Given the description of an element on the screen output the (x, y) to click on. 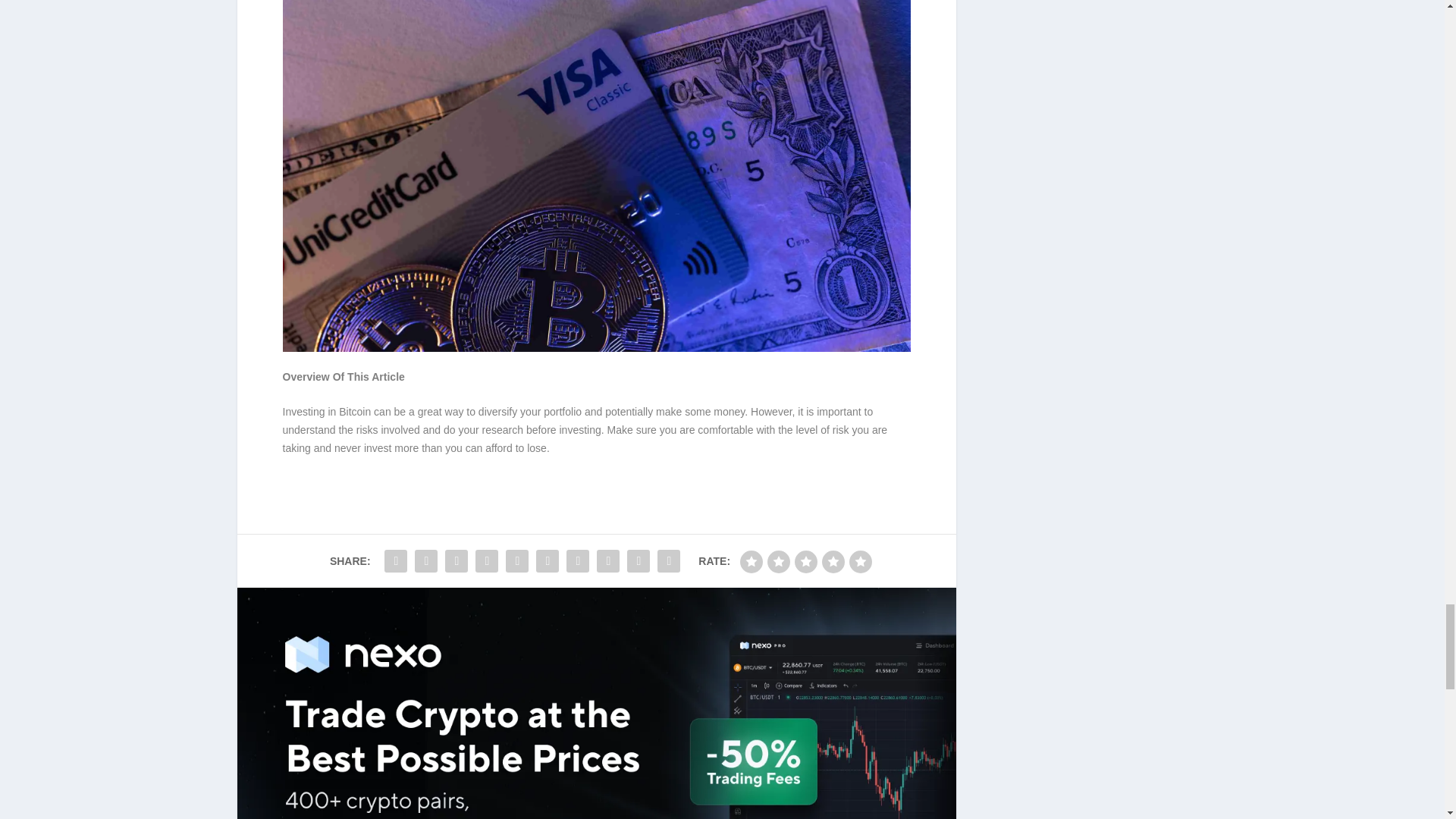
Share "How To Invest In Bitcoin And Make Money" via Email (638, 561)
Share "How To Invest In Bitcoin And Make Money" via Facebook (395, 561)
Share "How To Invest In Bitcoin And Make Money" via Buffer (577, 561)
Share "How To Invest In Bitcoin And Make Money" via Print (668, 561)
Share "How To Invest In Bitcoin And Make Money" via Twitter (425, 561)
Share "How To Invest In Bitcoin And Make Money" via LinkedIn (547, 561)
Share "How To Invest In Bitcoin And Make Money" via Tumblr (486, 561)
bad (750, 561)
